Given the description of an element on the screen output the (x, y) to click on. 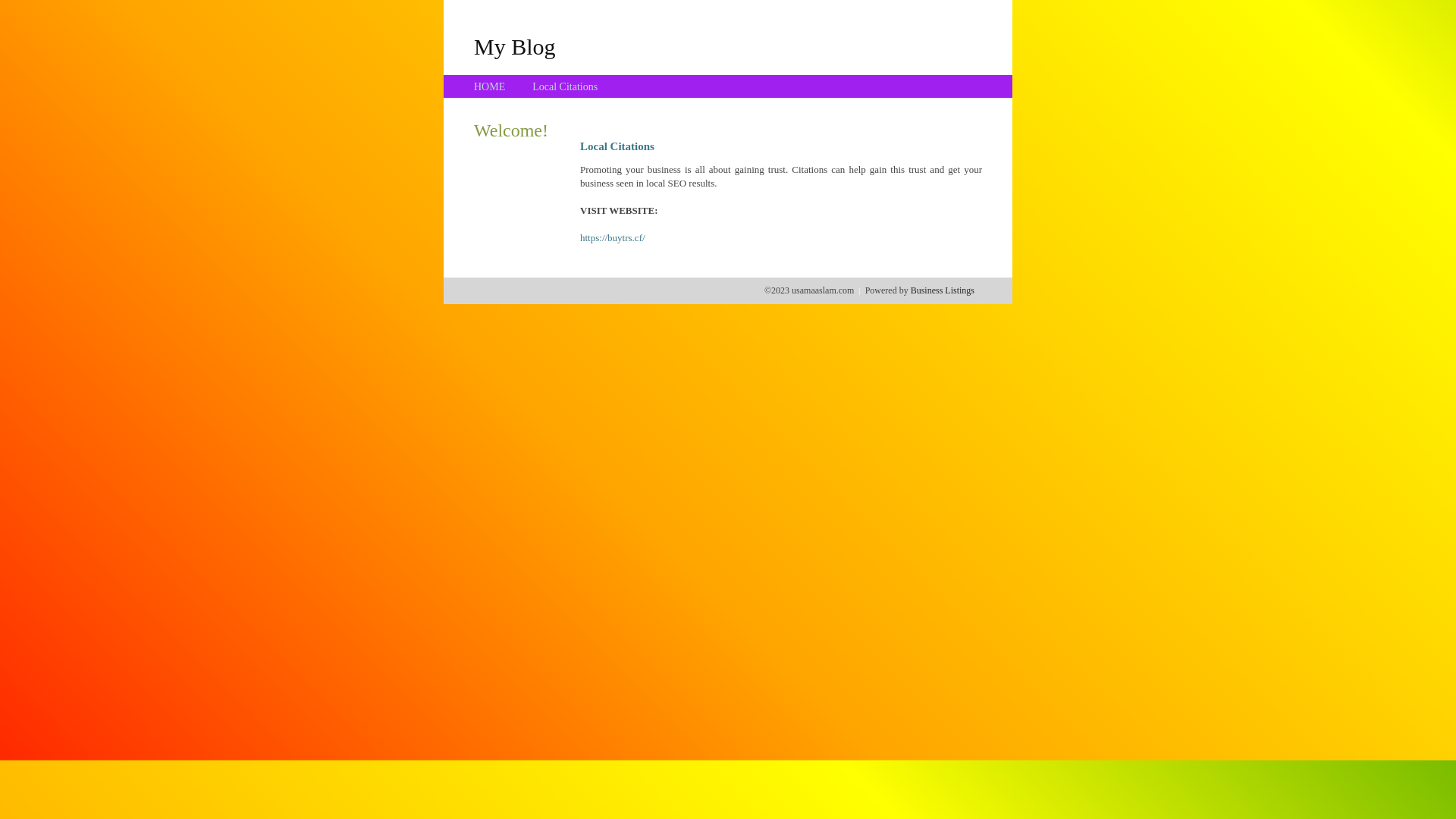
Business Listings Element type: text (942, 290)
Local Citations Element type: text (564, 86)
My Blog Element type: text (514, 46)
https://buytrs.cf/ Element type: text (612, 237)
HOME Element type: text (489, 86)
